Given the description of an element on the screen output the (x, y) to click on. 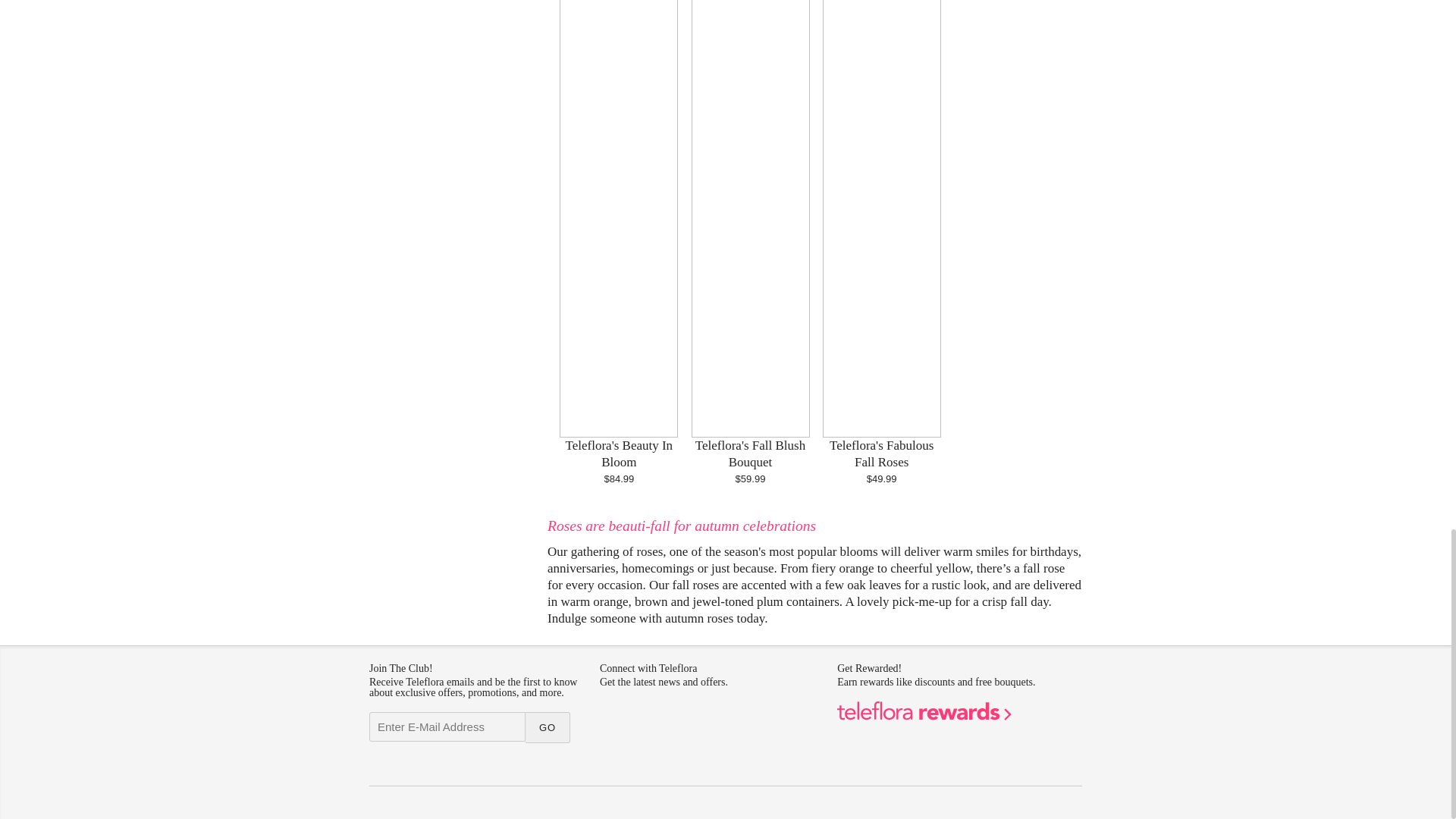
GO (547, 726)
download iOS app (641, 755)
Email Sign up (447, 726)
Teleflora rewards (924, 717)
youtube (708, 721)
